Given the description of an element on the screen output the (x, y) to click on. 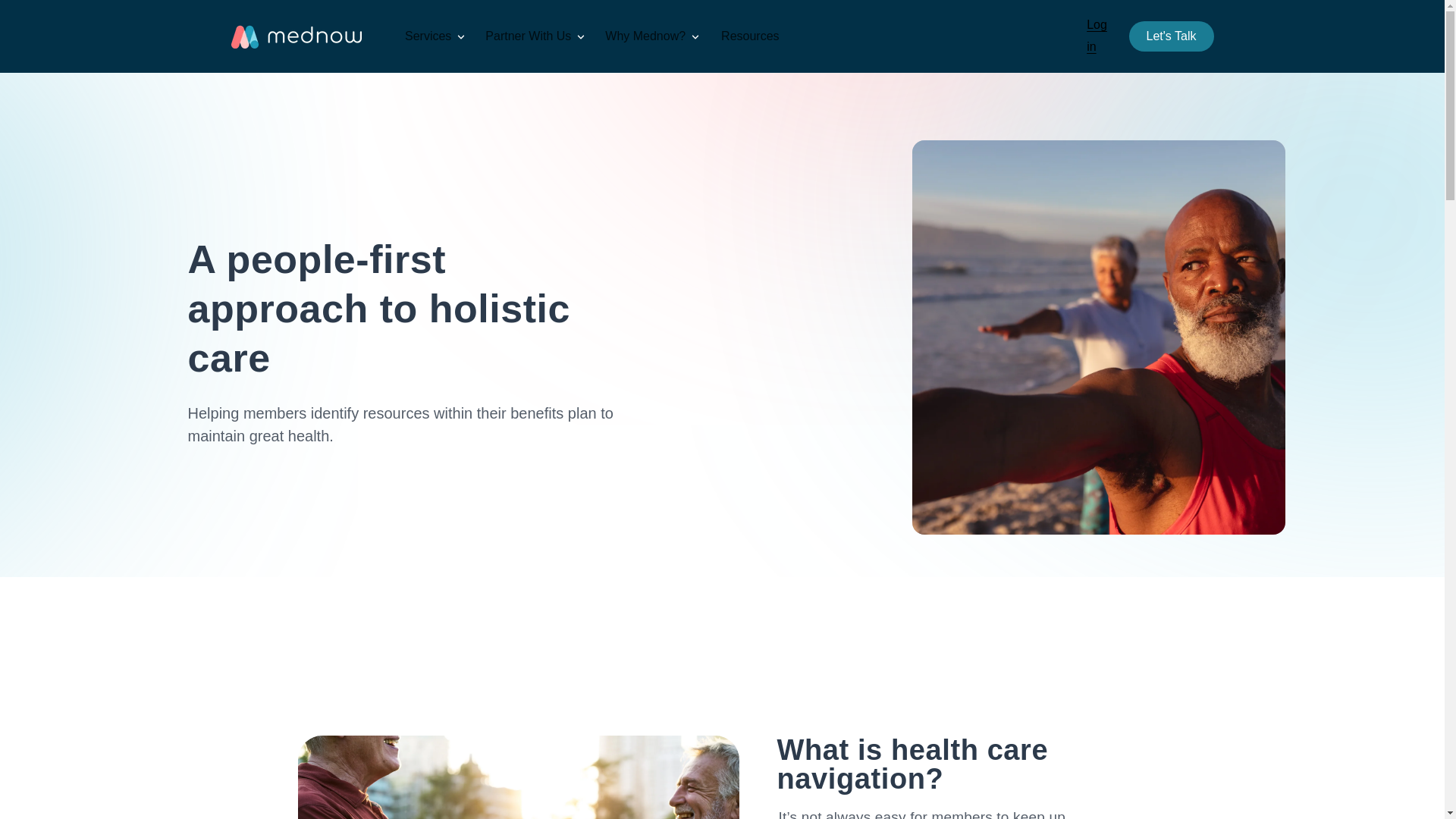
Log in (1096, 36)
Passer au contenu (45, 16)
Resources (749, 36)
